Given the description of an element on the screen output the (x, y) to click on. 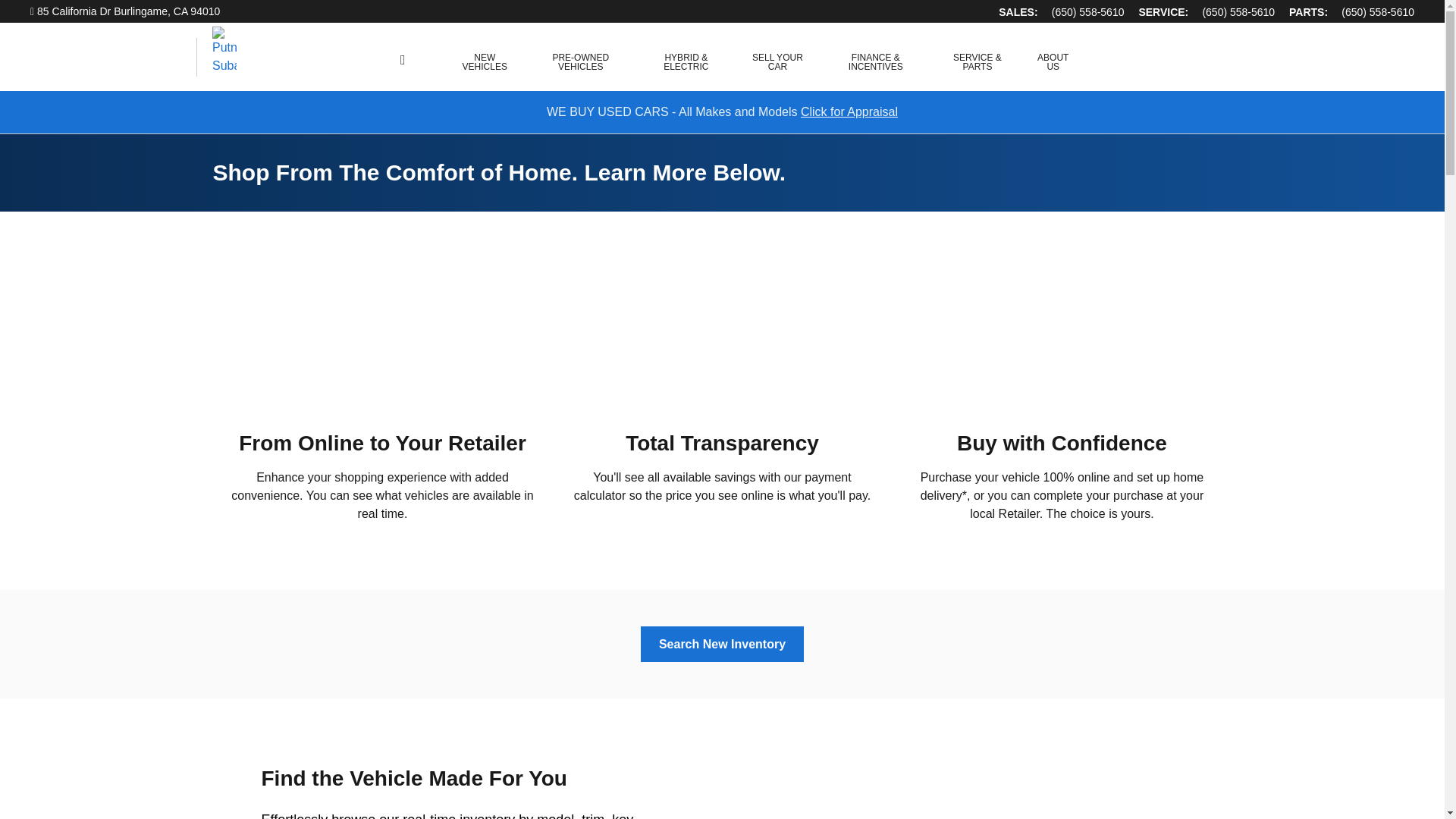
85 California Dr Burlingame, CA 94010 (124, 10)
PRE-OWNED VEHICLES (579, 57)
Home (113, 56)
NEW VEHICLES (484, 57)
SELL YOUR CAR (777, 57)
HOME (402, 59)
